Given the description of an element on the screen output the (x, y) to click on. 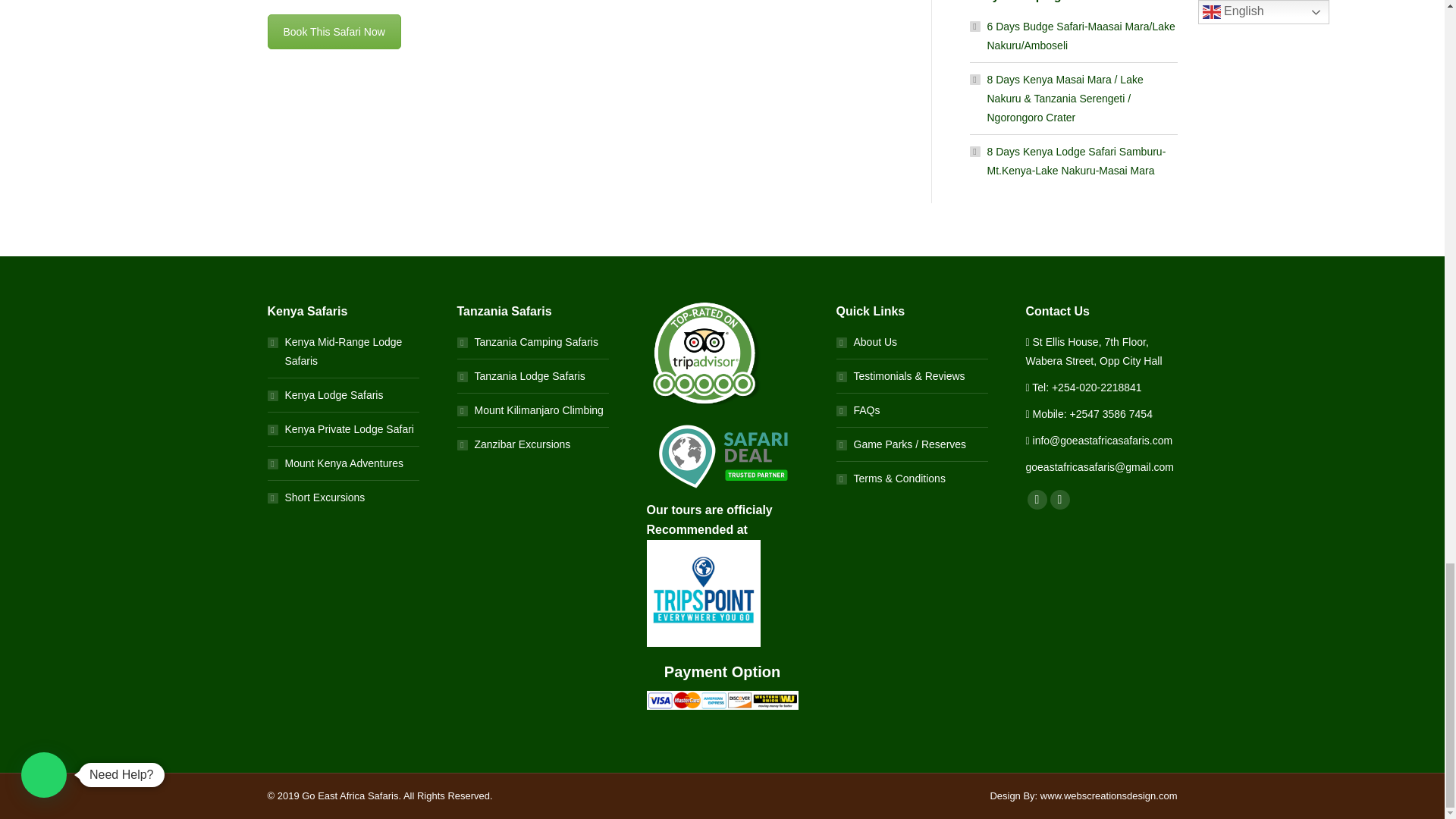
Linkedin (1058, 499)
Facebook (1036, 499)
